Given the description of an element on the screen output the (x, y) to click on. 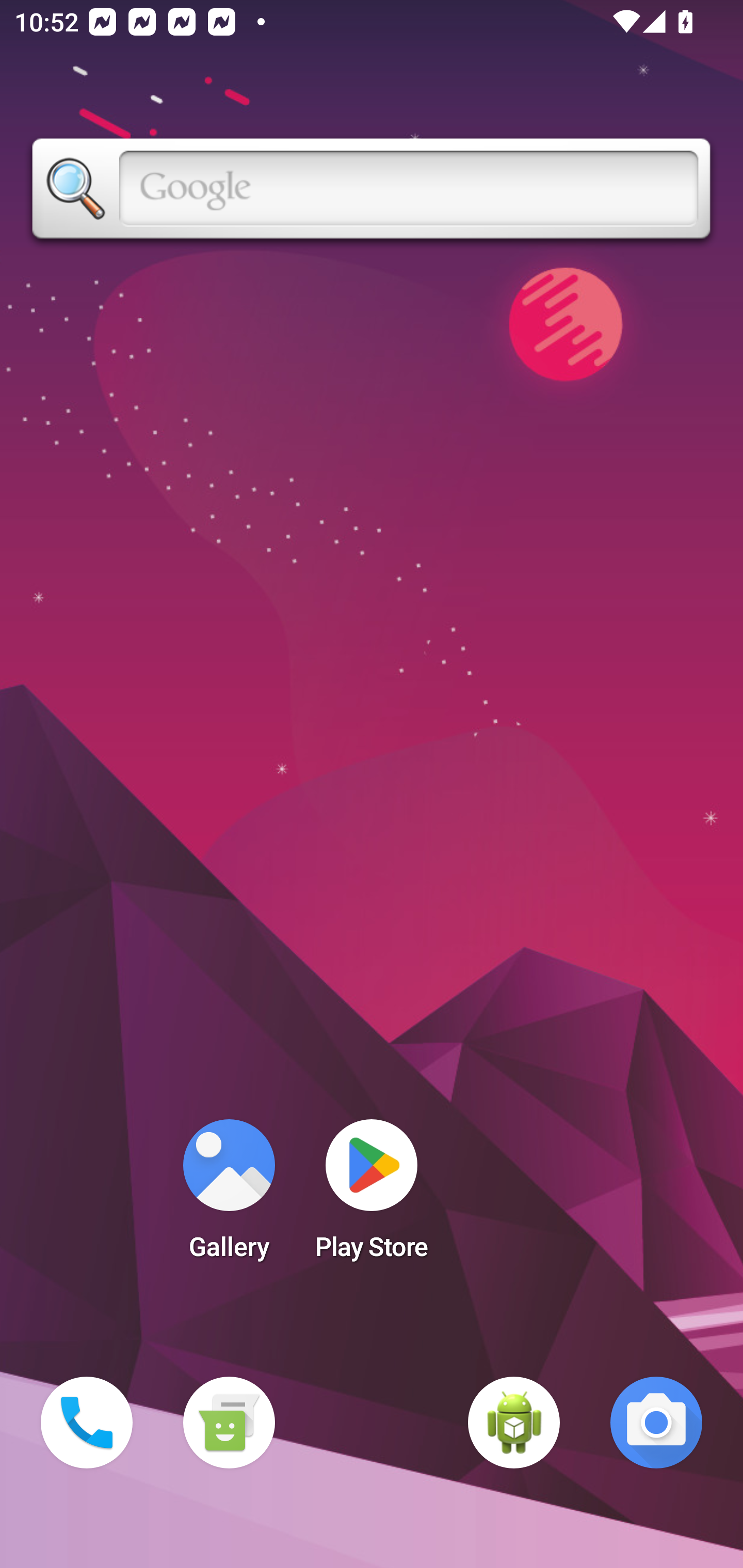
Gallery (228, 1195)
Play Store (371, 1195)
Phone (86, 1422)
Messaging (228, 1422)
WebView Browser Tester (513, 1422)
Camera (656, 1422)
